Given the description of an element on the screen output the (x, y) to click on. 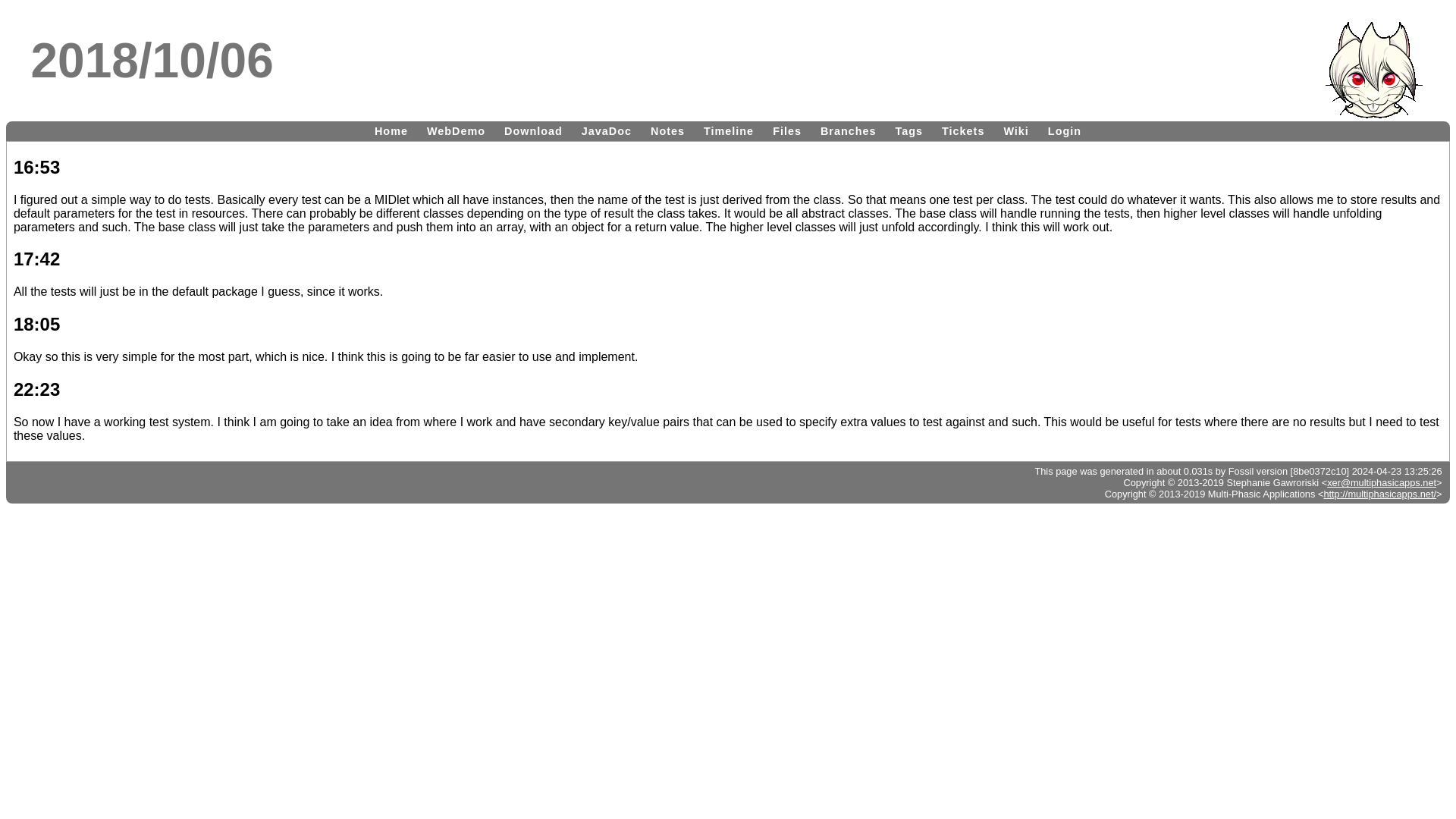
Home (390, 130)
Tickets (962, 130)
WebDemo (456, 130)
Timeline (728, 130)
Branches (847, 130)
Wiki (1015, 130)
Login (1065, 130)
Download (533, 130)
Tags (909, 130)
Notes (668, 130)
Lex the SquirrelJME mascot! (1373, 69)
JavaDoc (606, 130)
Files (787, 130)
